Given the description of an element on the screen output the (x, y) to click on. 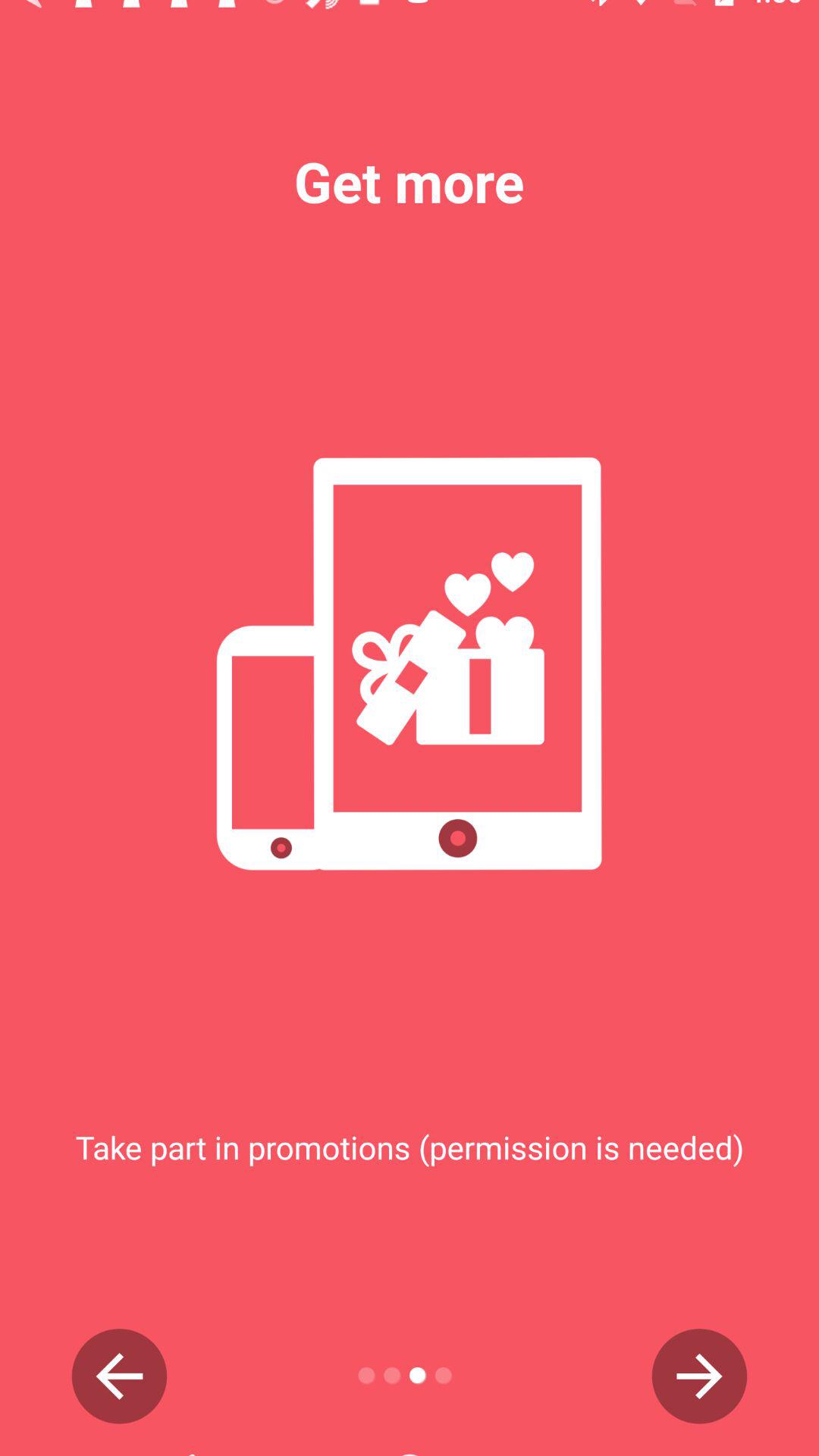
backward (119, 1376)
